Given the description of an element on the screen output the (x, y) to click on. 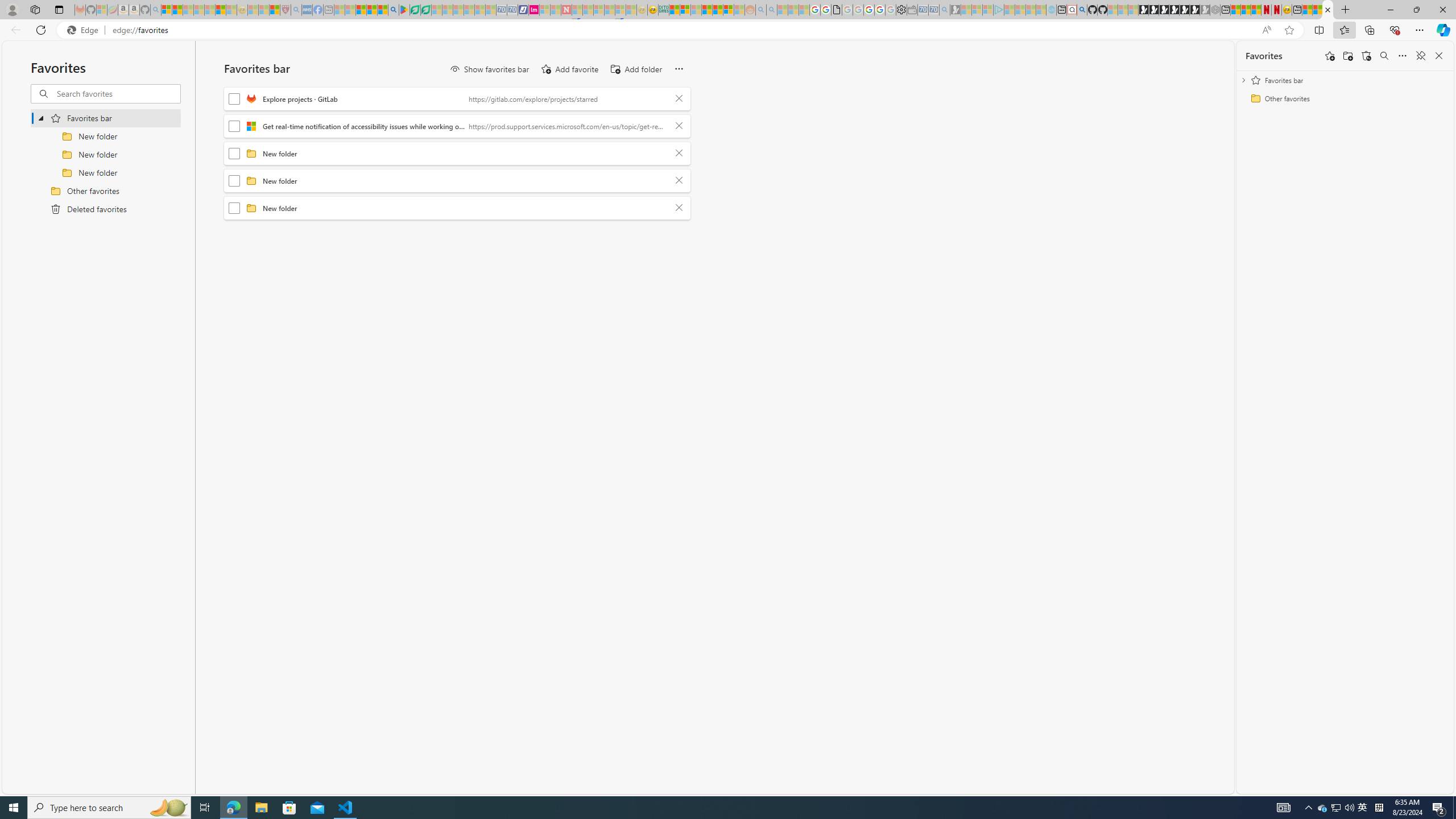
Microsoft Start - Sleeping (1030, 9)
Utah sues federal government - Search - Sleeping (771, 9)
Pets - MSN (371, 9)
Search favorites (117, 93)
Robert H. Shmerling, MD - Harvard Health - Sleeping (285, 9)
